Given the description of an element on the screen output the (x, y) to click on. 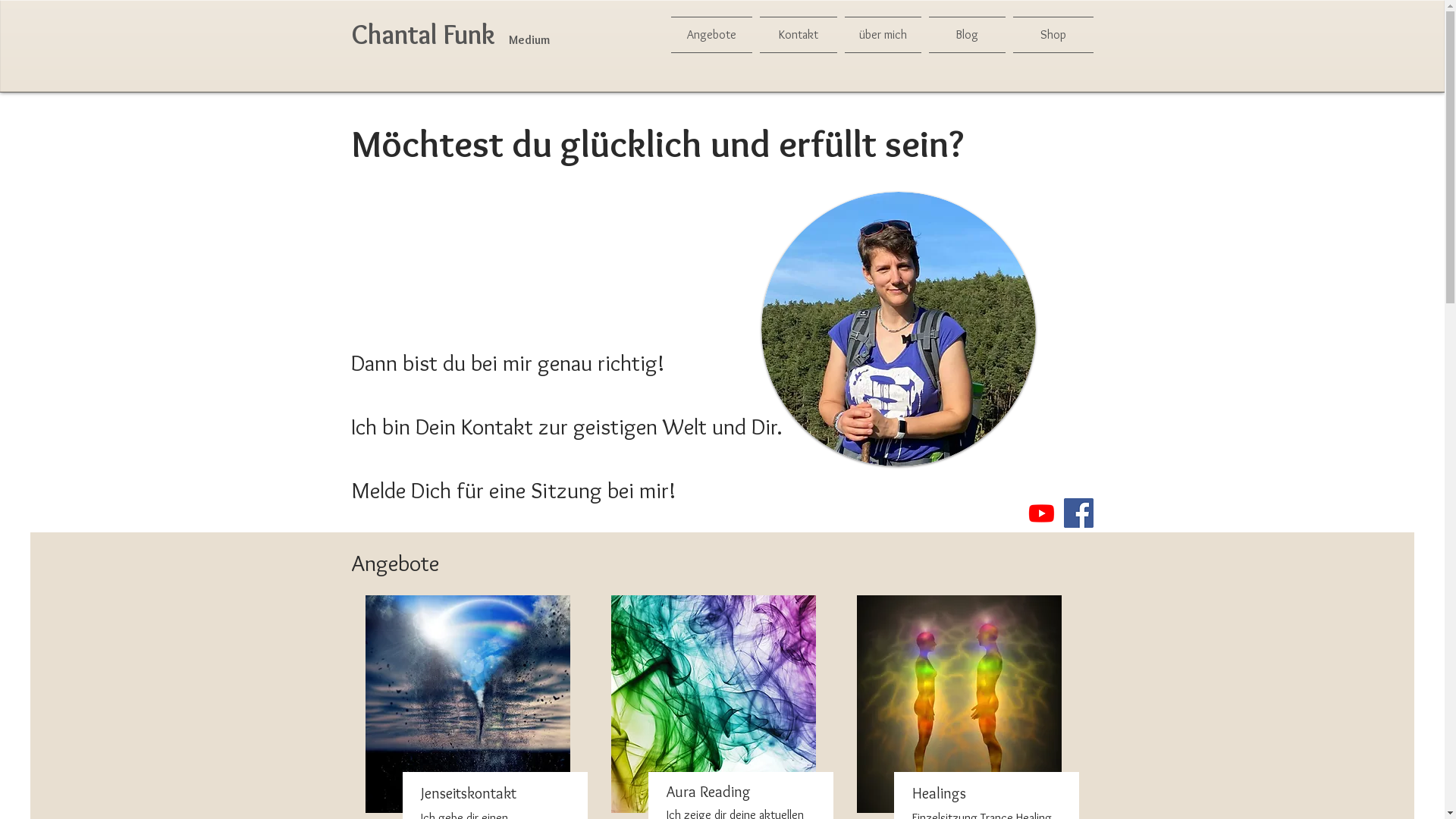
Chantal Funk Element type: text (422, 34)
Blog Element type: text (967, 34)
Angebote Element type: text (712, 34)
Healings Element type: text (938, 792)
Shop Element type: text (1050, 34)
Aura Reading Element type: text (707, 791)
Kontakt Element type: text (797, 34)
Jenseitskontakt Element type: text (467, 792)
